Given the description of an element on the screen output the (x, y) to click on. 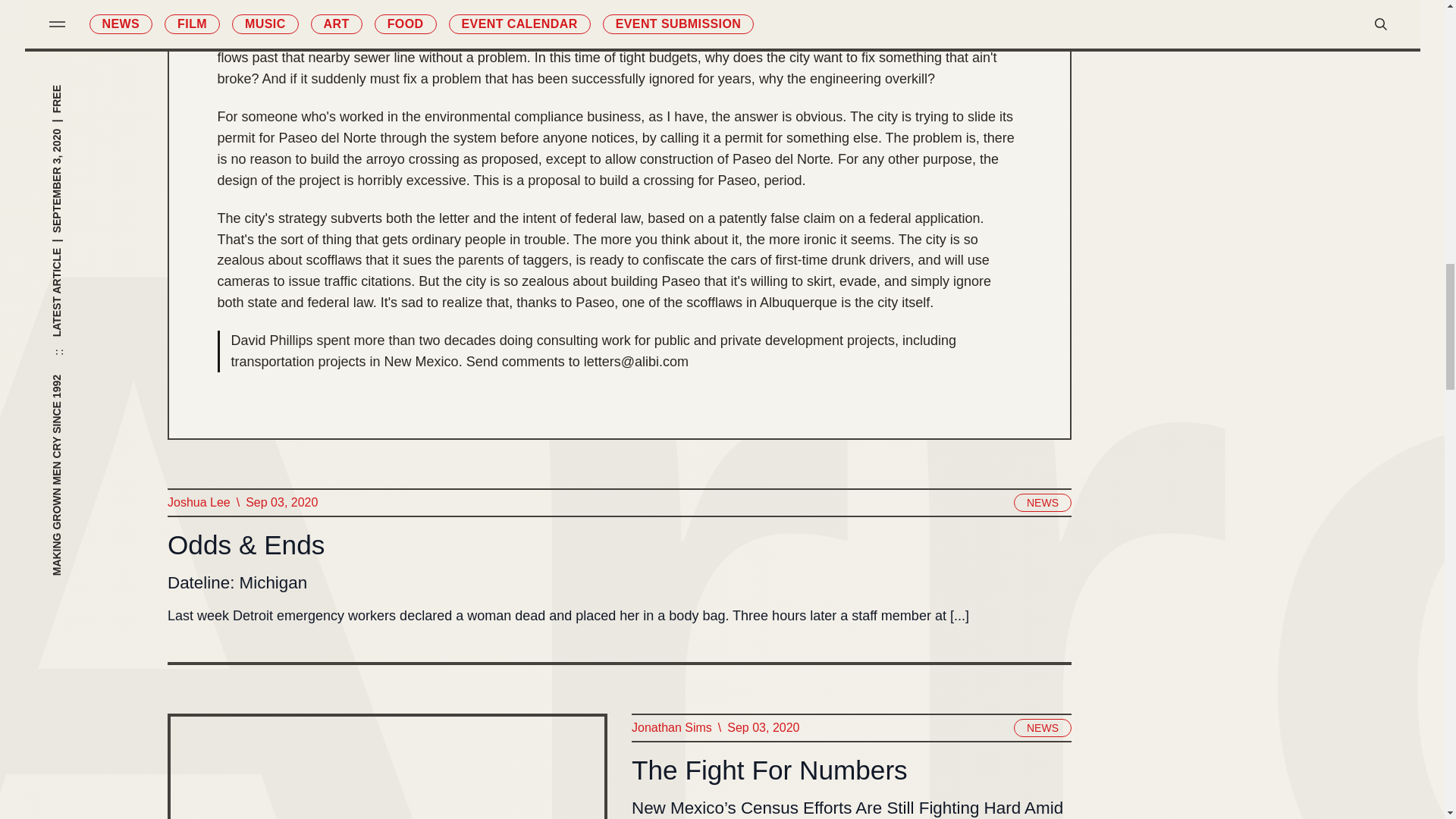
NEWS (1041, 728)
Jonathan Sims (670, 727)
NEWS (1041, 502)
Joshua Lee (198, 502)
